Given the description of an element on the screen output the (x, y) to click on. 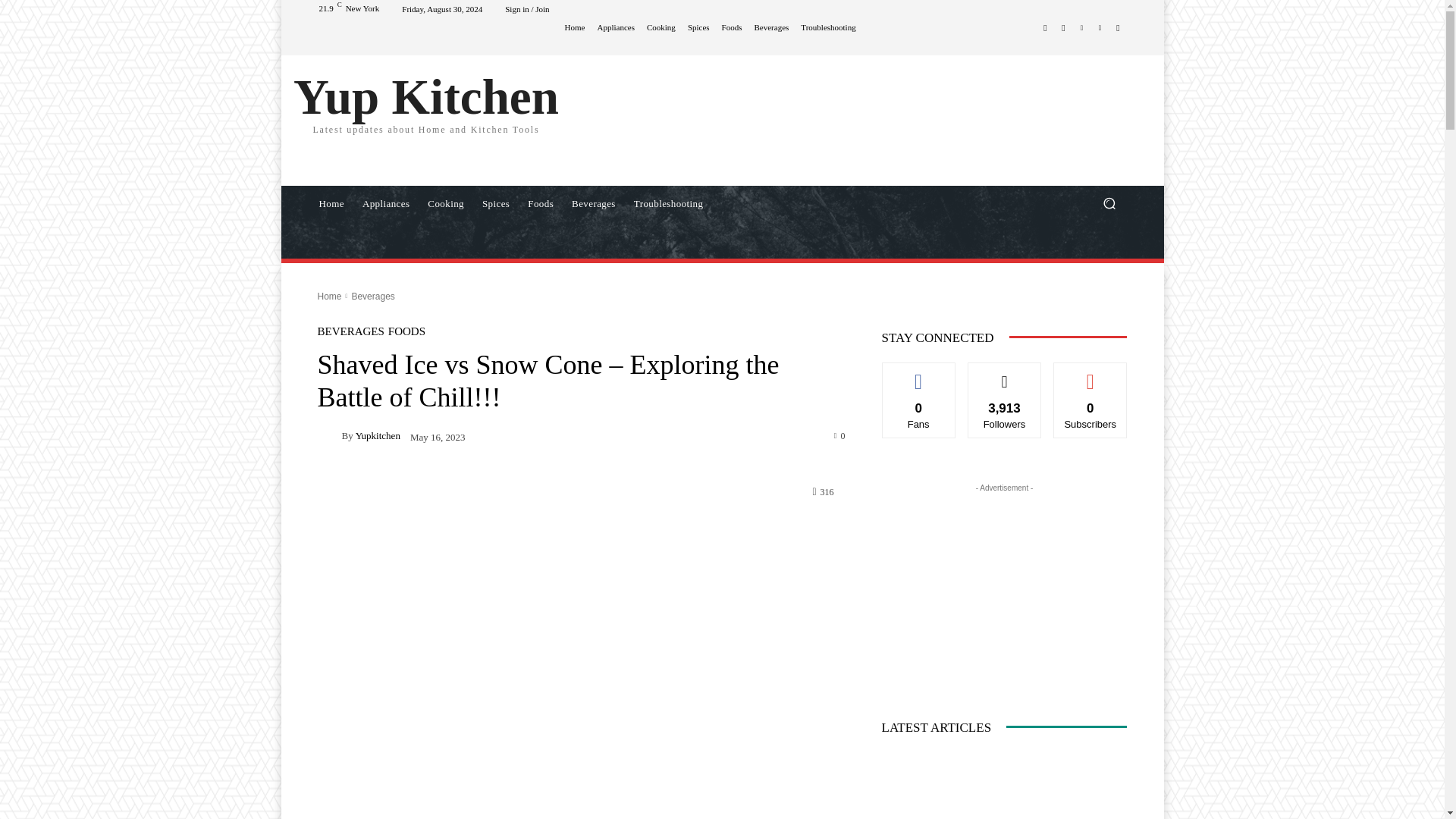
Beverages (771, 27)
yupkitchen (328, 435)
Troubleshooting (667, 203)
Home (330, 203)
Appliances (386, 203)
Home (574, 27)
Facebook (1044, 27)
Foods (540, 203)
Spices (495, 203)
Spices (698, 27)
